Given the description of an element on the screen output the (x, y) to click on. 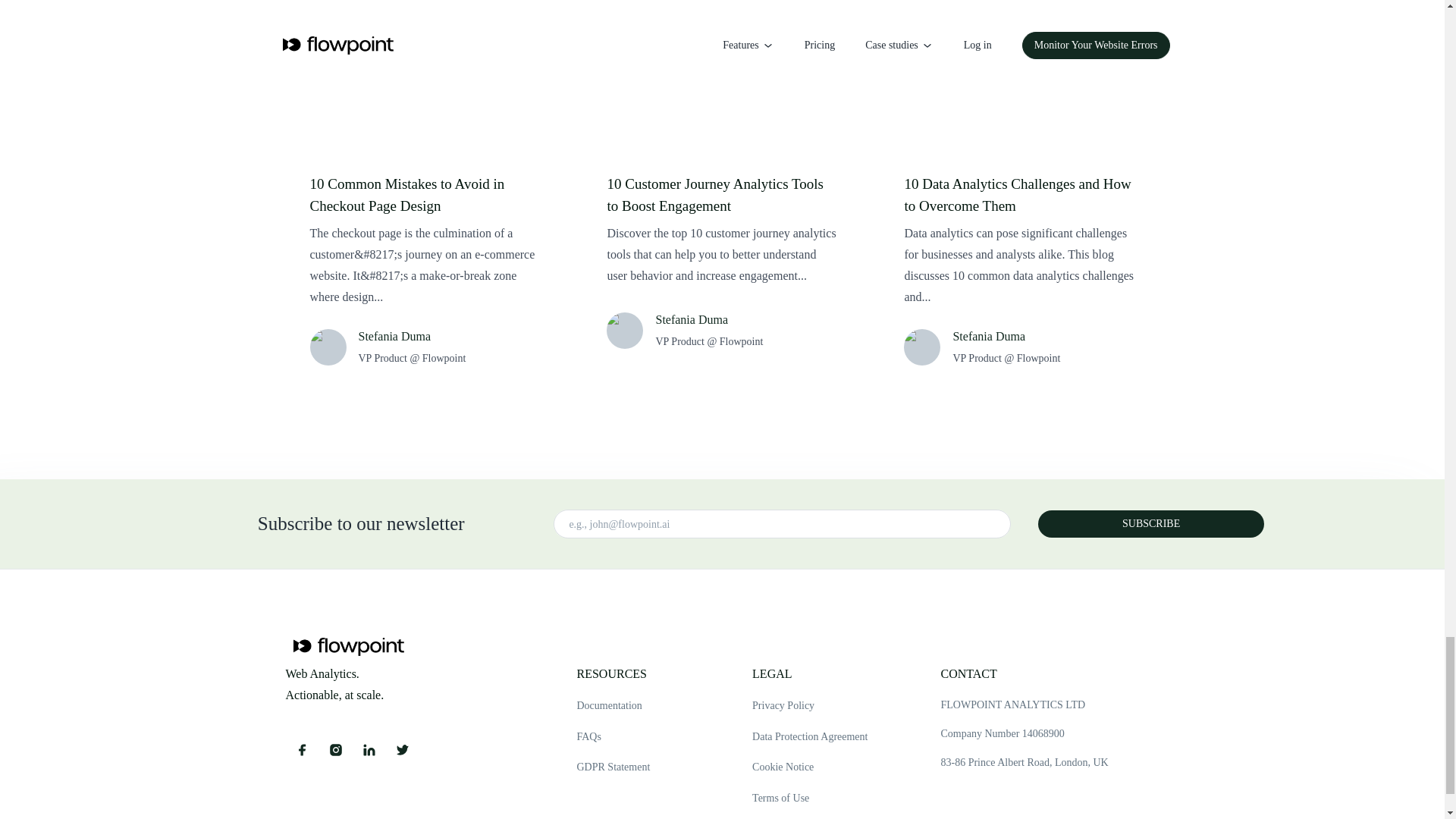
10 Common Mistakes to Avoid in Checkout Page Design (424, 195)
10 Data Analytics Challenges and How to Overcome Them (1019, 195)
10 Customer Journey Analytics Tools to Boost Engagement (722, 195)
SUBSCRIBE (1150, 523)
Terms of Use (809, 798)
Documentation (612, 705)
Privacy Policy (809, 705)
Cookie Notice (809, 767)
Data Protection Agreement (809, 737)
GDPR Statement (612, 767)
